Given the description of an element on the screen output the (x, y) to click on. 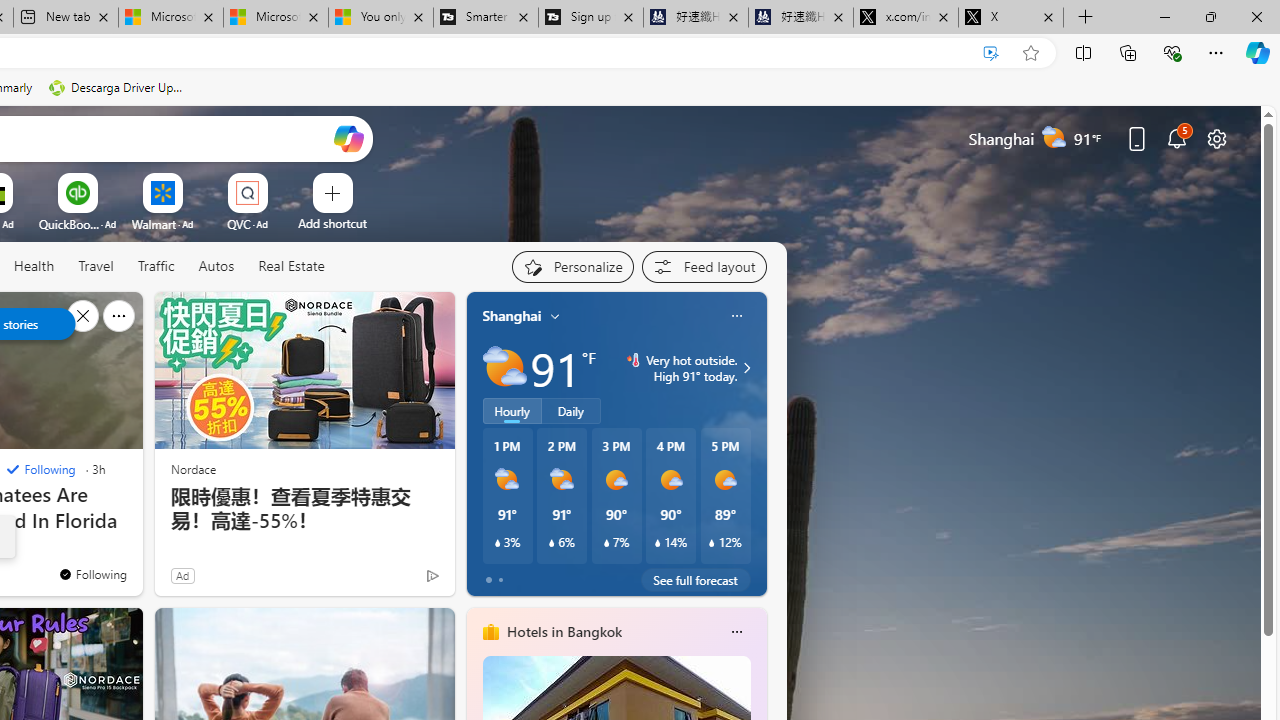
Personalize your feed" (571, 266)
Real Estate (291, 265)
Hide this story (82, 315)
Autos (215, 265)
Partly sunny (504, 368)
Add a site (332, 223)
Class: icon-img (736, 632)
Hotels in Bangkok (563, 631)
